Given the description of an element on the screen output the (x, y) to click on. 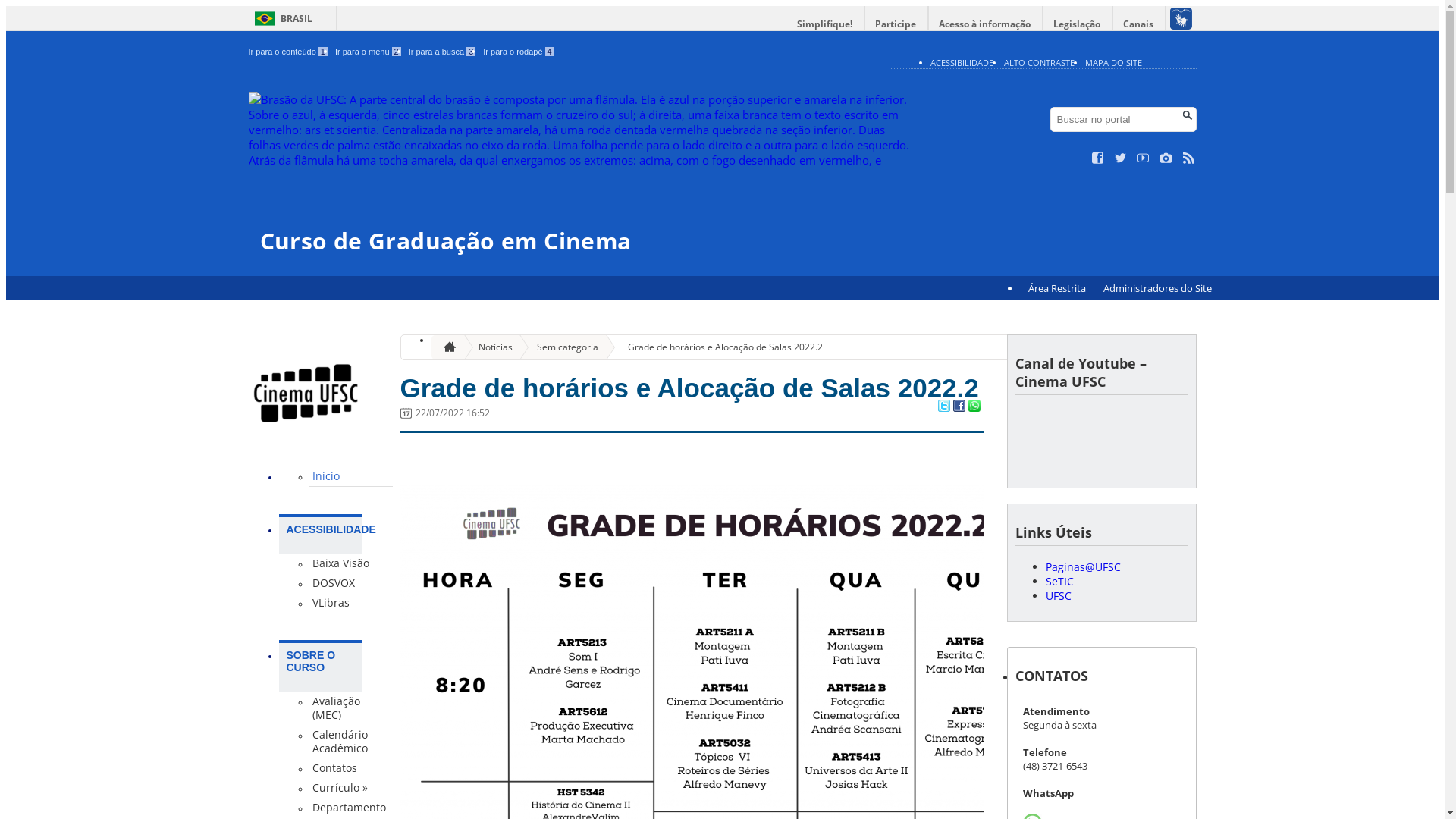
MAPA DO SITE Element type: text (1112, 62)
Administradores do Site Element type: text (1156, 288)
BRASIL Element type: text (280, 18)
Sem categoria Element type: text (561, 346)
Curta no Facebook Element type: hover (1098, 158)
Participe Element type: text (895, 24)
Compartilhar no Facebook Element type: hover (958, 406)
Veja no Instagram Element type: hover (1166, 158)
DOSVOX Element type: text (350, 583)
UFSC Element type: text (1057, 595)
Paginas@UFSC Element type: text (1082, 566)
Ir para o menu 2 Element type: text (368, 51)
Compartilhar no Twitter Element type: hover (943, 406)
Simplifique! Element type: text (825, 24)
Contatos Element type: text (350, 768)
Departamento Element type: text (350, 807)
VLibras Element type: text (350, 602)
ACESSIBILIDADE Element type: text (960, 62)
Canais Element type: text (1138, 24)
ALTO CONTRASTE Element type: text (1039, 62)
Ir para a busca 3 Element type: text (442, 51)
Compartilhar no WhatsApp Element type: hover (973, 406)
SeTIC Element type: text (1058, 581)
Siga no Twitter Element type: hover (1120, 158)
